Given the description of an element on the screen output the (x, y) to click on. 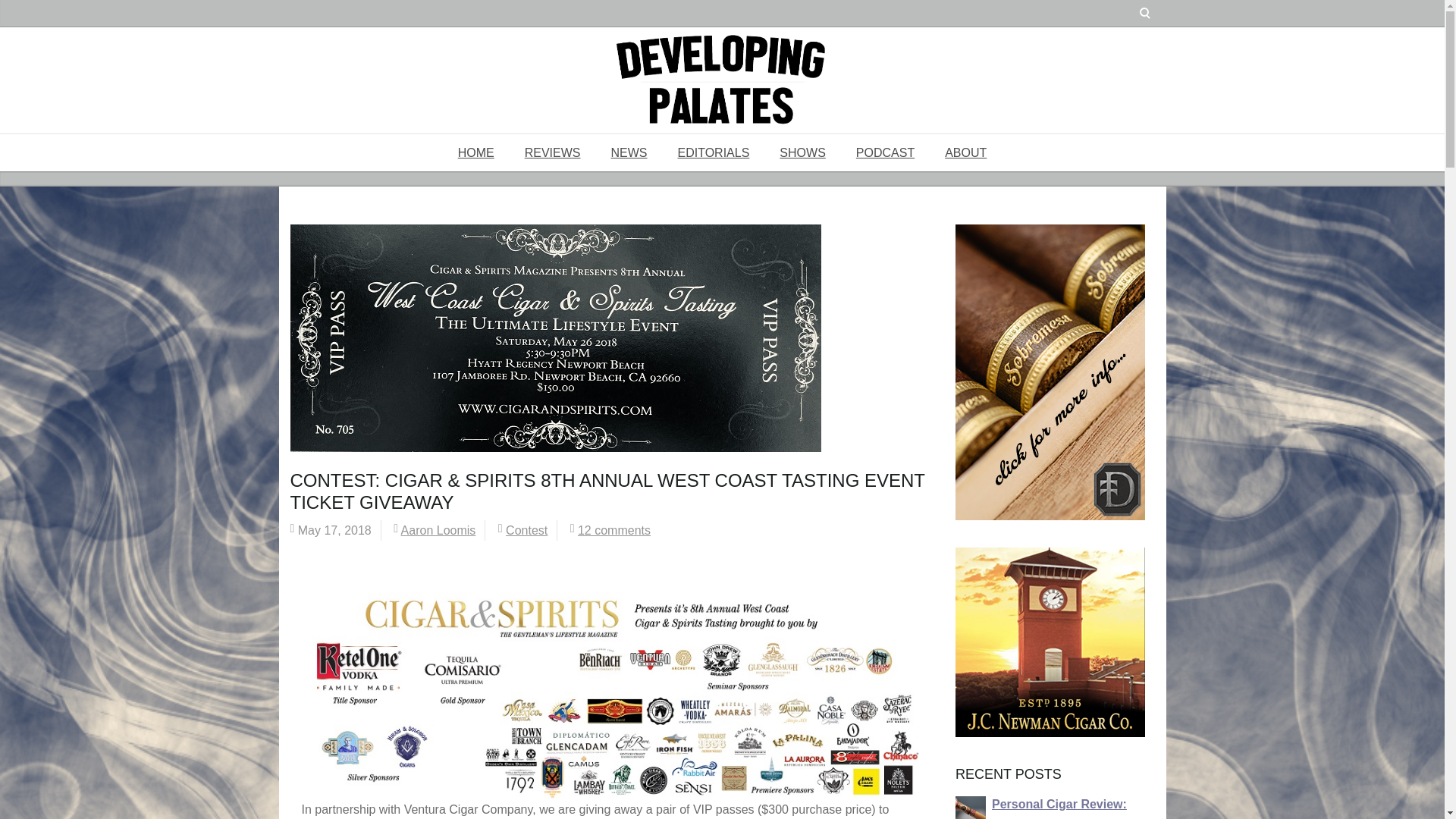
Aaron Loomis (438, 530)
SHOWS (802, 152)
Contest (526, 530)
PODCAST (885, 152)
Personal Cigar Review: Macanudo Vintage Maduro 2013 Robusto (970, 809)
HOME (475, 152)
NEWS (628, 152)
EDITORIALS (713, 152)
REVIEWS (552, 152)
Personal Cigar Review: Macanudo Vintage Maduro 2013 Robusto (1068, 808)
ABOUT (965, 152)
